Given the description of an element on the screen output the (x, y) to click on. 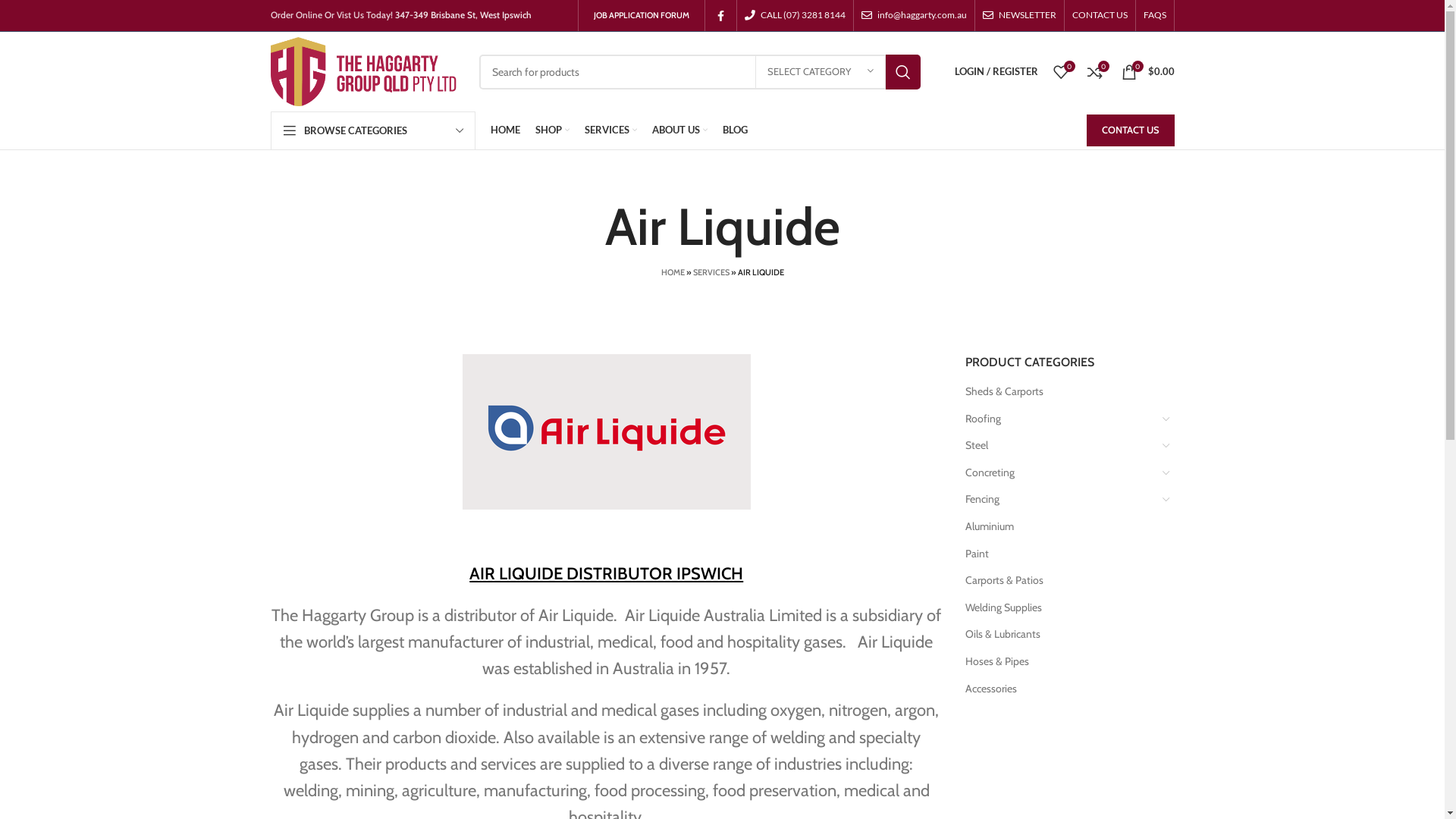
Oils & Lubricants Element type: text (1060, 634)
CONTACT US Element type: text (1129, 130)
SELECT CATEGORY Element type: text (820, 71)
info@haggarty.com.au Element type: text (913, 15)
SERVICES Element type: text (609, 130)
Aluminium Element type: text (1060, 526)
347-349 Brisbane St, West Ipswich Element type: text (462, 14)
0 Element type: text (1094, 71)
Fencing Element type: text (1060, 499)
Welding Supplies Element type: text (1060, 607)
SHOP Element type: text (552, 130)
Steel Element type: text (1060, 445)
0 Element type: text (1059, 71)
CALL (07) 3281 8144 Element type: text (794, 15)
Carports & Patios Element type: text (1060, 580)
CONTACT US Element type: text (1099, 15)
Hoses & Pipes Element type: text (1060, 661)
SEARCH Element type: text (902, 71)
ABOUT US Element type: text (679, 130)
Sheds & Carports Element type: text (1060, 391)
Concreting Element type: text (1060, 472)
BLOG Element type: text (733, 130)
JOB APPLICATION FORUM Element type: text (640, 14)
Roofing Element type: text (1060, 419)
HOME Element type: text (504, 130)
LOGIN / REGISTER Element type: text (995, 71)
SERVICES Element type: text (711, 271)
Search for products Element type: hover (699, 71)
FAQS Element type: text (1154, 15)
NEWSLETTER Element type: text (1019, 15)
Accessories Element type: text (1060, 688)
0
$0.00 Element type: text (1147, 71)
air-liquide-transforming-video-cover Element type: hover (606, 431)
HOME Element type: text (672, 271)
Paint Element type: text (1060, 553)
